Given the description of an element on the screen output the (x, y) to click on. 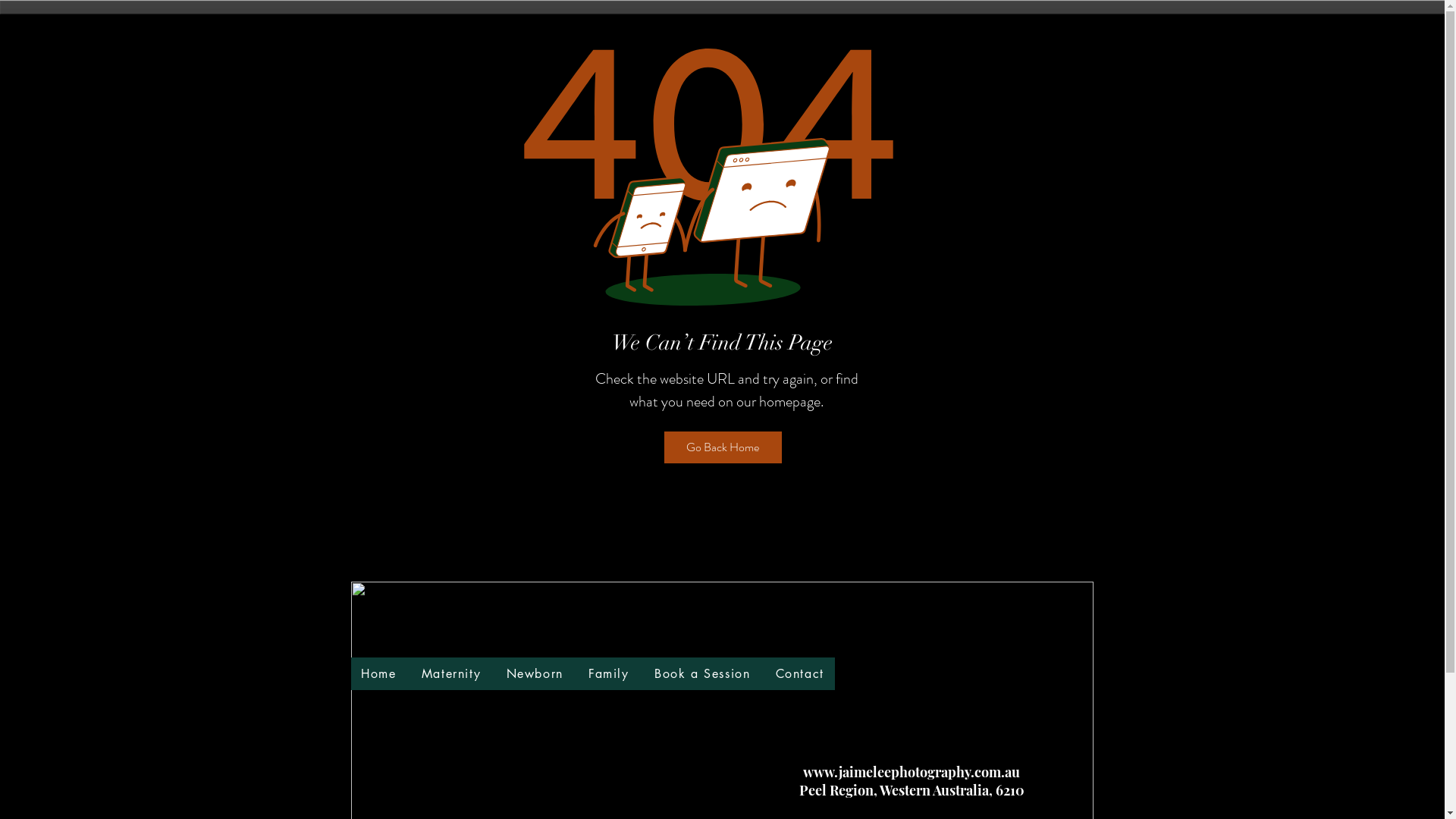
Maternity Element type: text (450, 673)
Family Element type: text (608, 673)
www.jaimeleephotography.com.au Element type: text (911, 771)
Newborn Element type: text (534, 673)
Go Back Home Element type: text (722, 447)
Book a Session Element type: text (701, 673)
Contact Element type: text (799, 673)
Home Element type: text (378, 673)
